Given the description of an element on the screen output the (x, y) to click on. 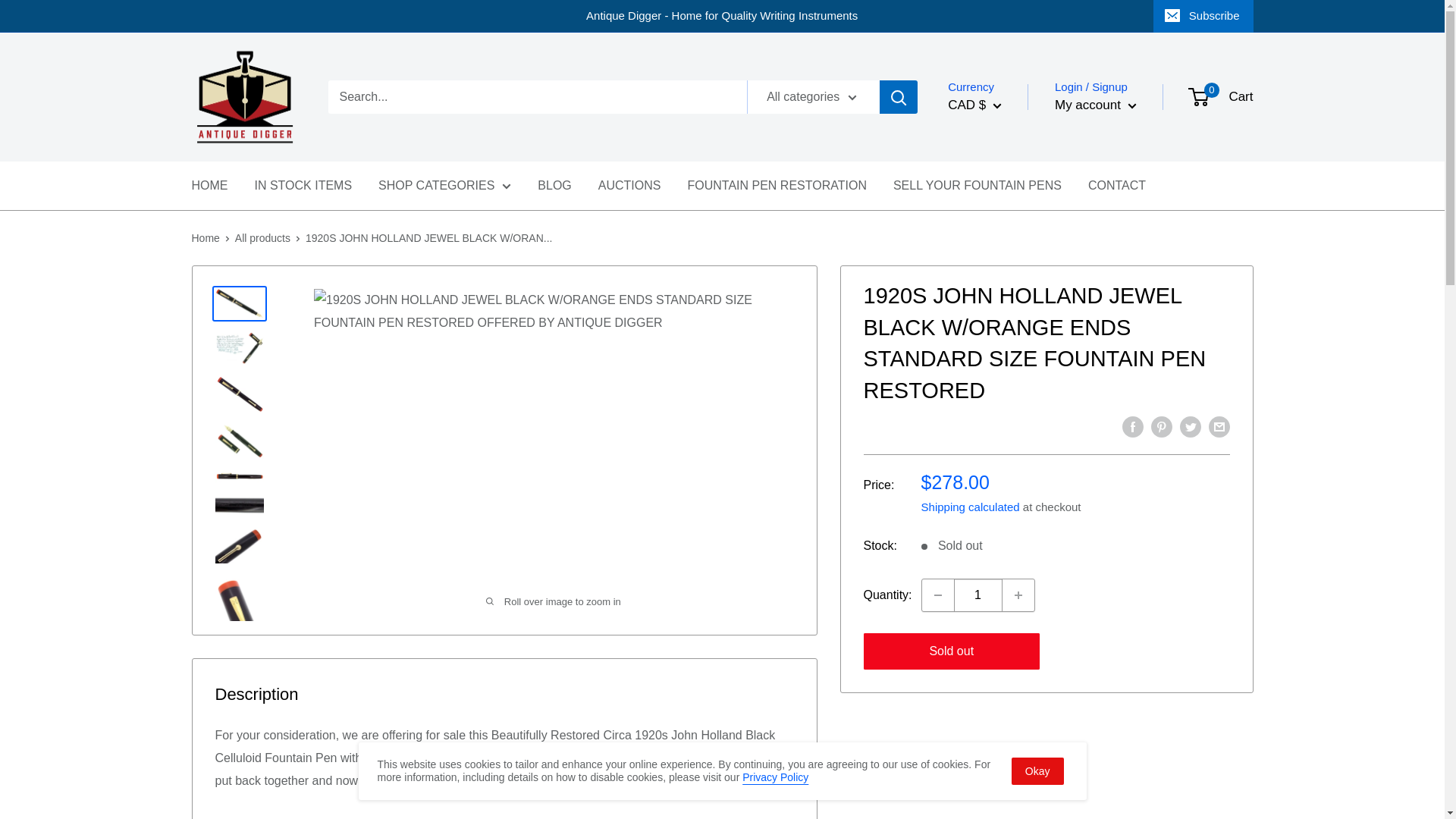
Increase quantity by 1 (1018, 594)
1 (978, 594)
Privacy Policy (775, 776)
Subscribe (1203, 15)
Decrease quantity by 1 (937, 594)
